Given the description of an element on the screen output the (x, y) to click on. 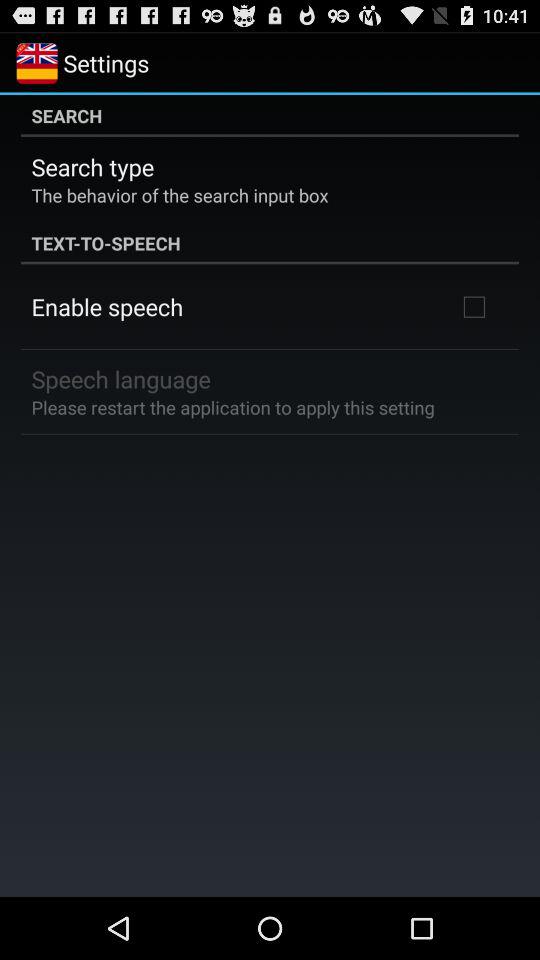
tap the app to the right of the enable speech icon (474, 306)
